Given the description of an element on the screen output the (x, y) to click on. 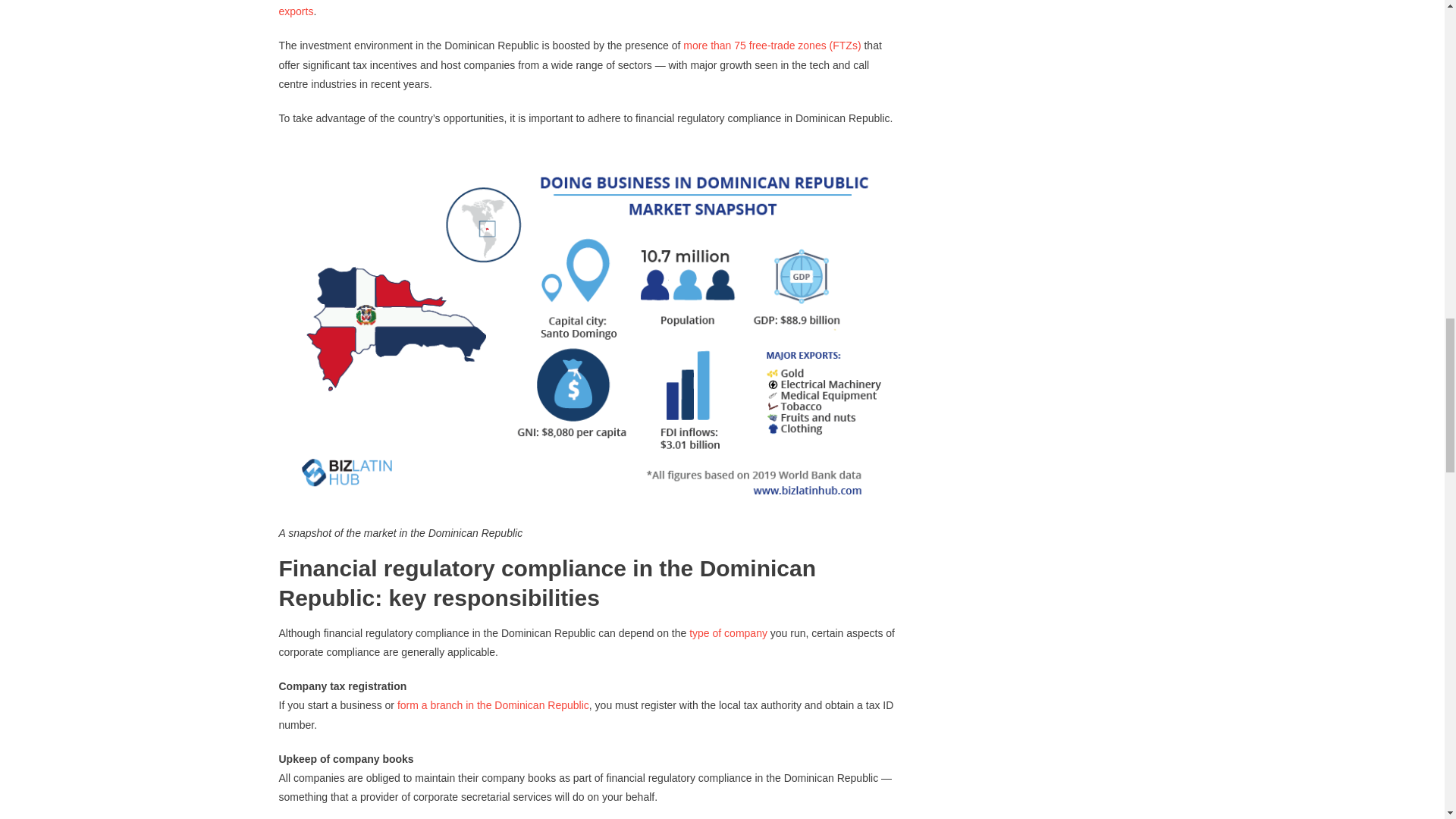
jump in the value of gold exports (585, 8)
form a branch in the Dominican Republic (493, 705)
more than 75 f (716, 45)
type of company (727, 633)
